Given the description of an element on the screen output the (x, y) to click on. 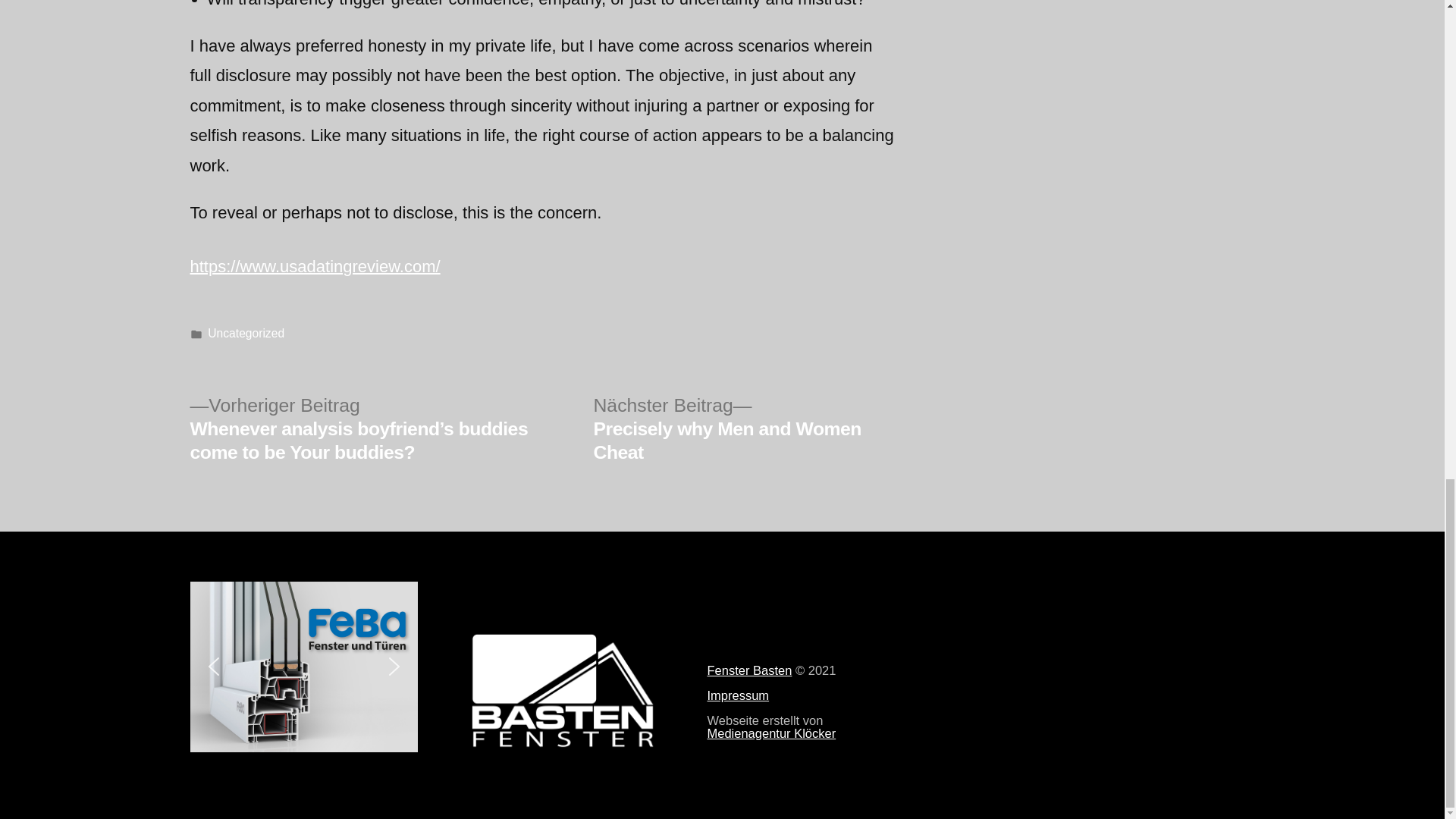
Uncategorized (245, 332)
Fenster Basten (749, 670)
Impressum (737, 694)
